Given the description of an element on the screen output the (x, y) to click on. 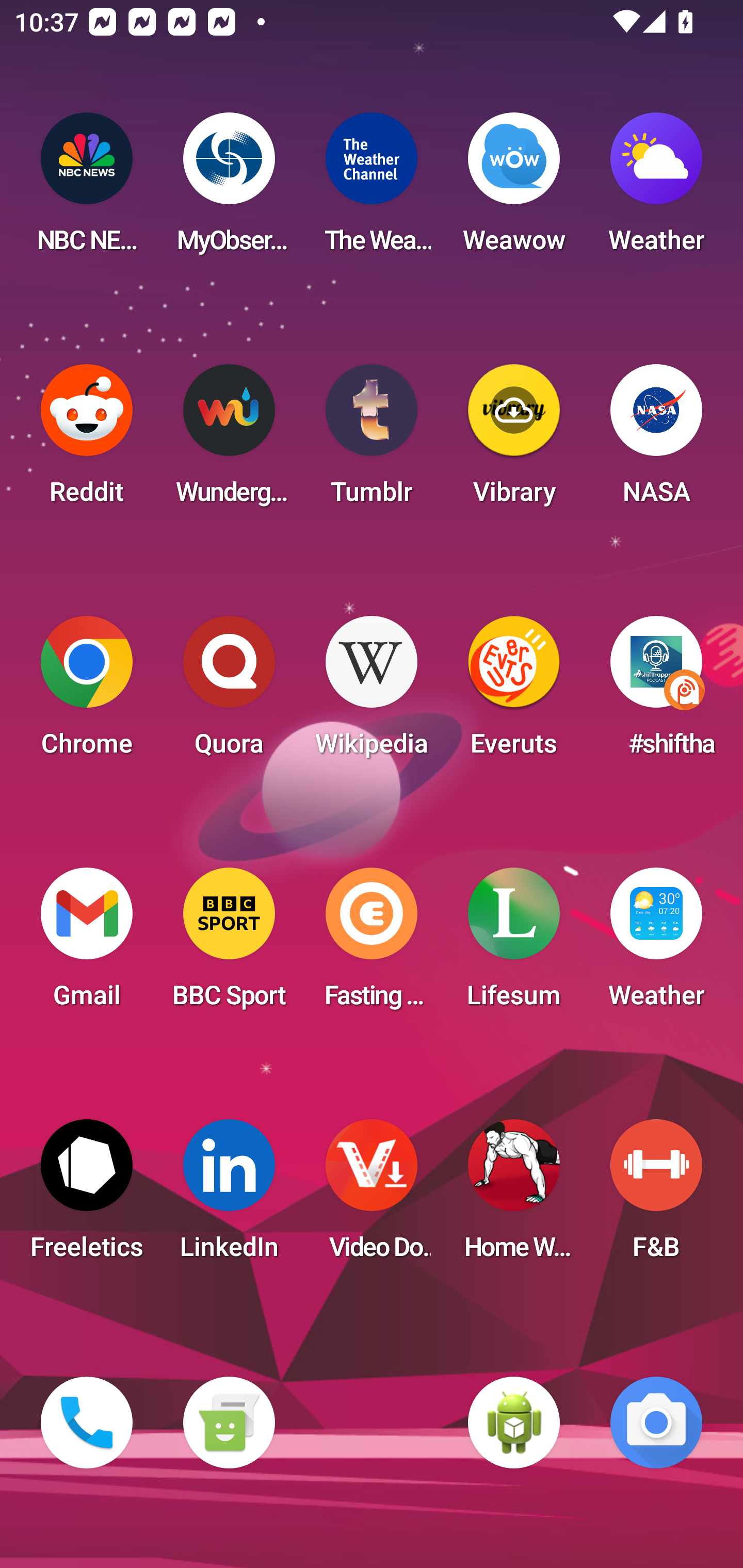
NBC NEWS (86, 188)
MyObservatory (228, 188)
The Weather Channel (371, 188)
Weawow (513, 188)
Weather (656, 188)
Reddit (86, 440)
Wunderground (228, 440)
Tumblr (371, 440)
Vibrary (513, 440)
NASA (656, 440)
Chrome (86, 692)
Quora (228, 692)
Wikipedia (371, 692)
Everuts (513, 692)
#shifthappens in the Digital Workplace Podcast (656, 692)
Gmail (86, 943)
BBC Sport (228, 943)
Fasting Coach (371, 943)
Lifesum (513, 943)
Weather (656, 943)
Freeletics (86, 1195)
LinkedIn (228, 1195)
Video Downloader & Ace Player (371, 1195)
Home Workout (513, 1195)
F&B (656, 1195)
Phone (86, 1422)
Messaging (228, 1422)
WebView Browser Tester (513, 1422)
Camera (656, 1422)
